Given the description of an element on the screen output the (x, y) to click on. 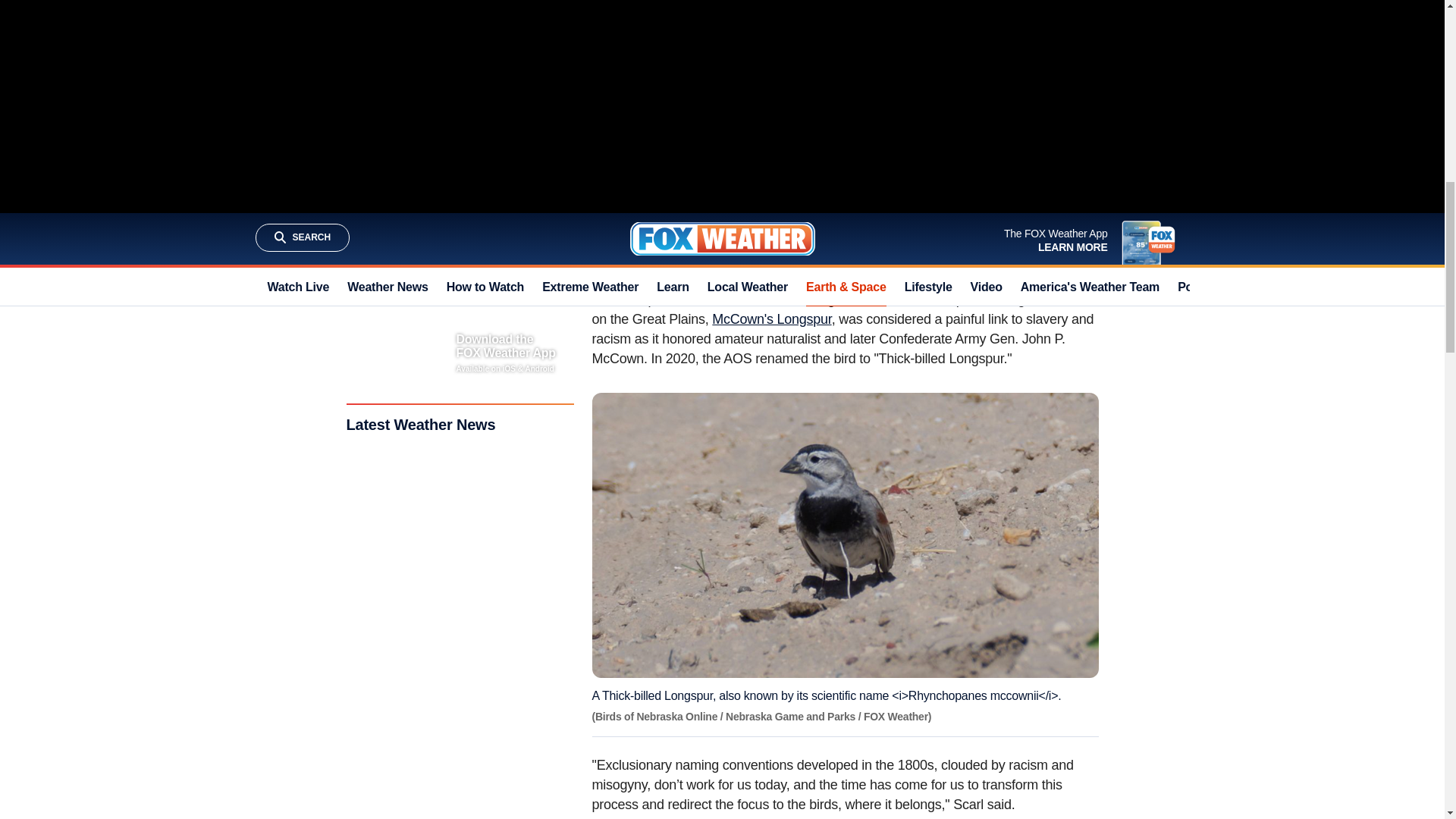
McCown's Longspur (771, 319)
historic (814, 235)
FILE: Birds of prey used to manage bird strikes at airports (740, 47)
